Given the description of an element on the screen output the (x, y) to click on. 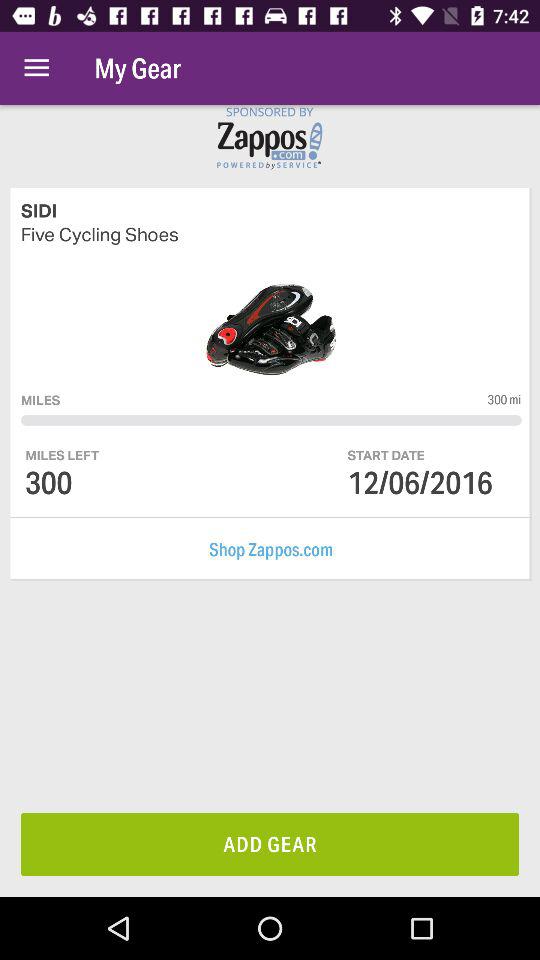
turn on the item above the sidi icon (36, 68)
